Given the description of an element on the screen output the (x, y) to click on. 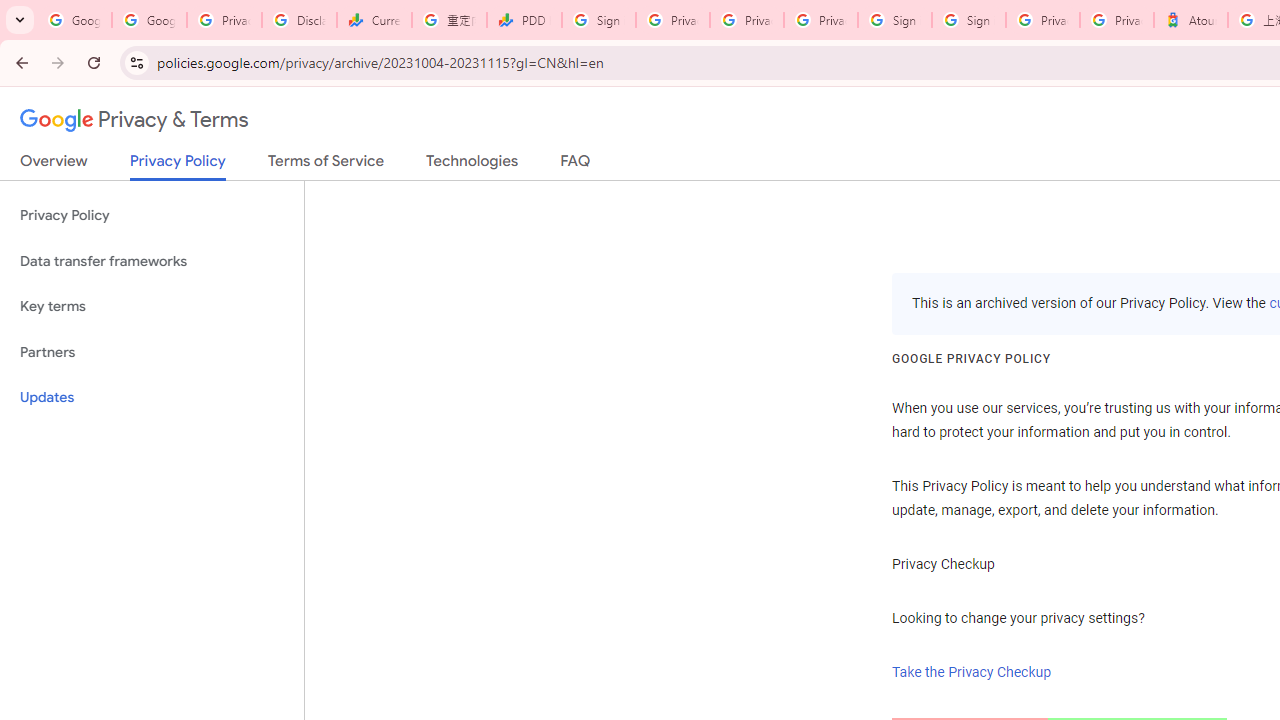
Sign in - Google Accounts (894, 20)
Google Workspace Admin Community (74, 20)
Privacy Checkup (747, 20)
